Given the description of an element on the screen output the (x, y) to click on. 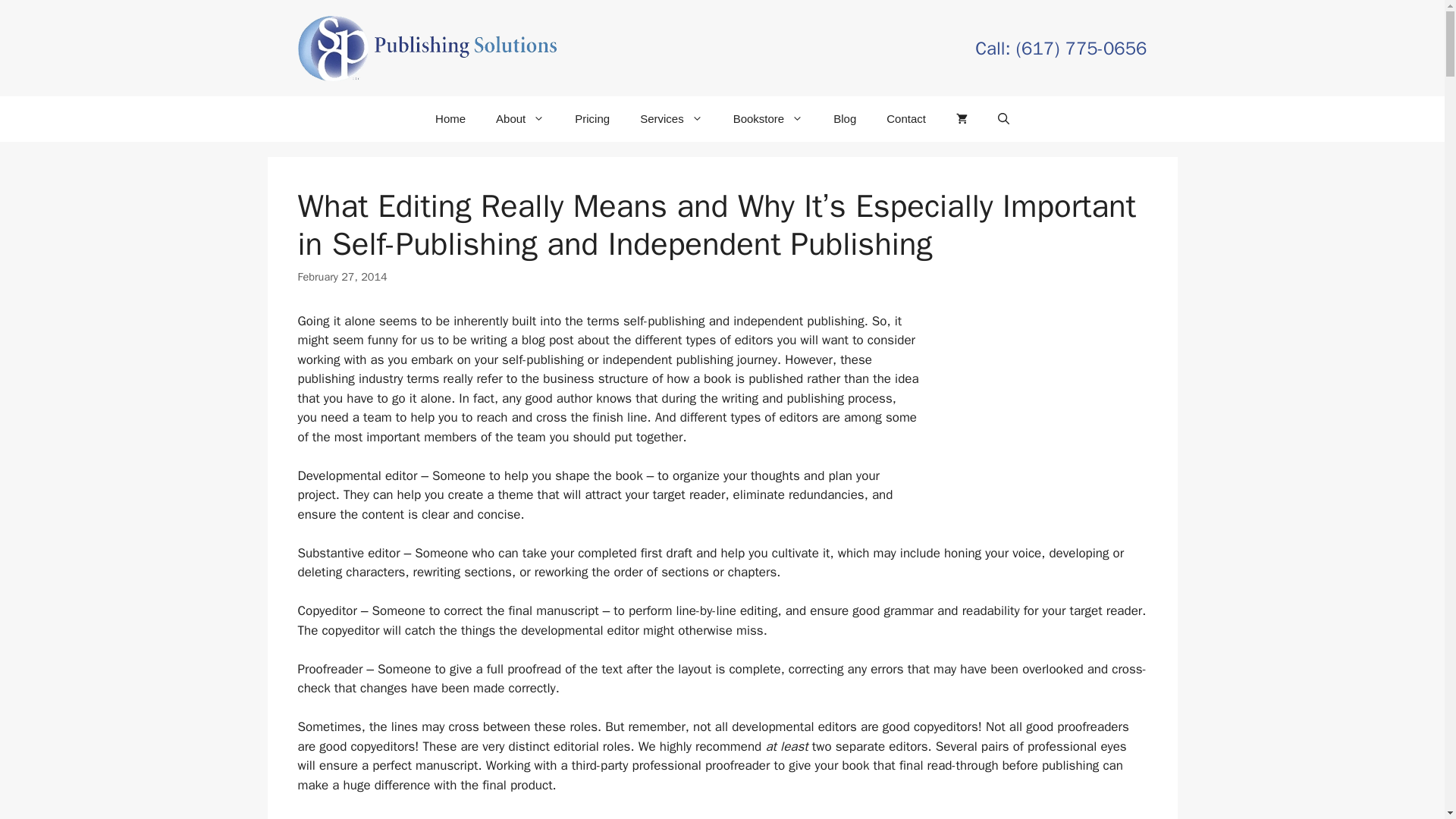
About (519, 118)
View your shopping cart (961, 118)
Home (450, 118)
